Given the description of an element on the screen output the (x, y) to click on. 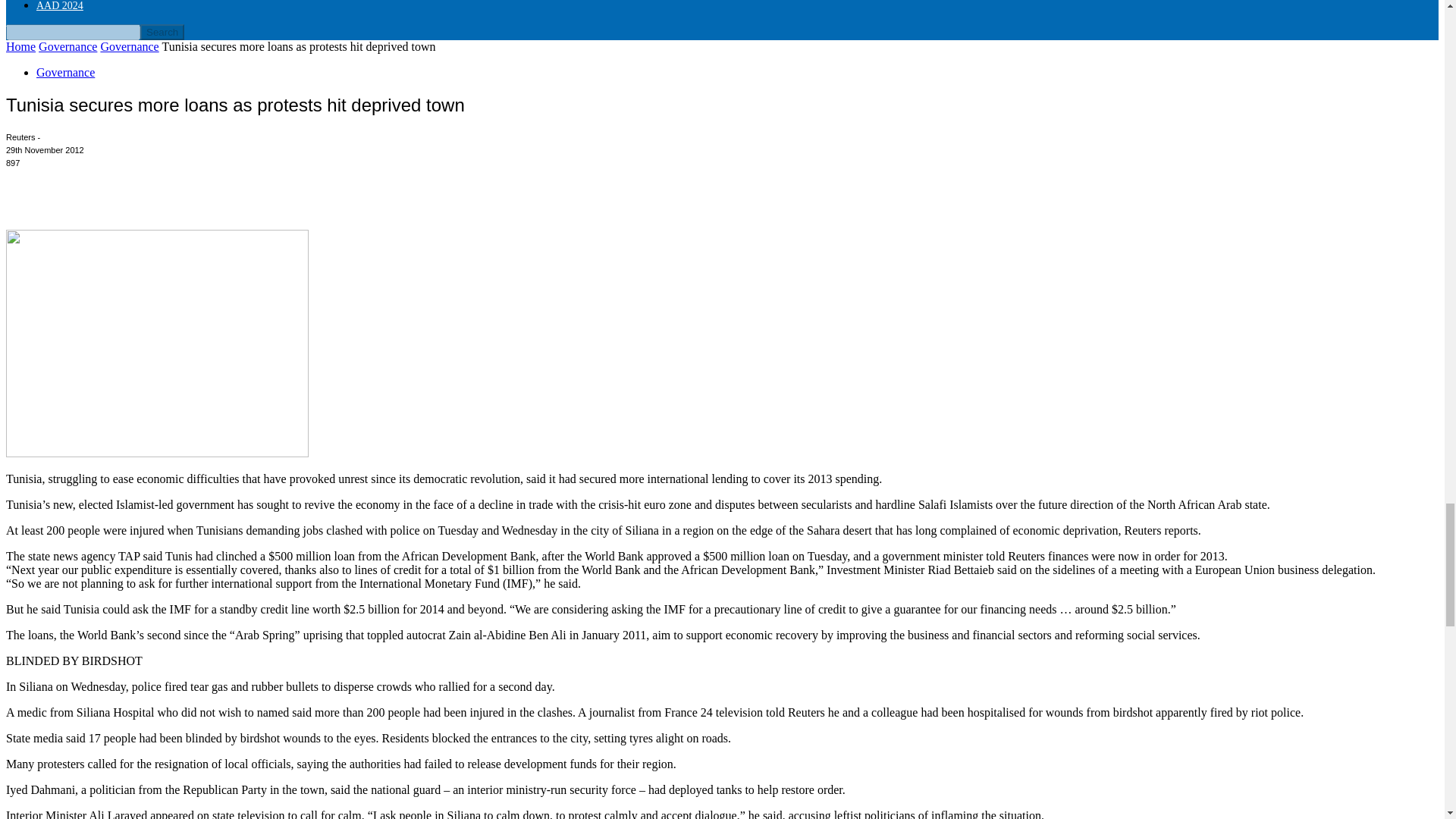
Search (161, 32)
